Given the description of an element on the screen output the (x, y) to click on. 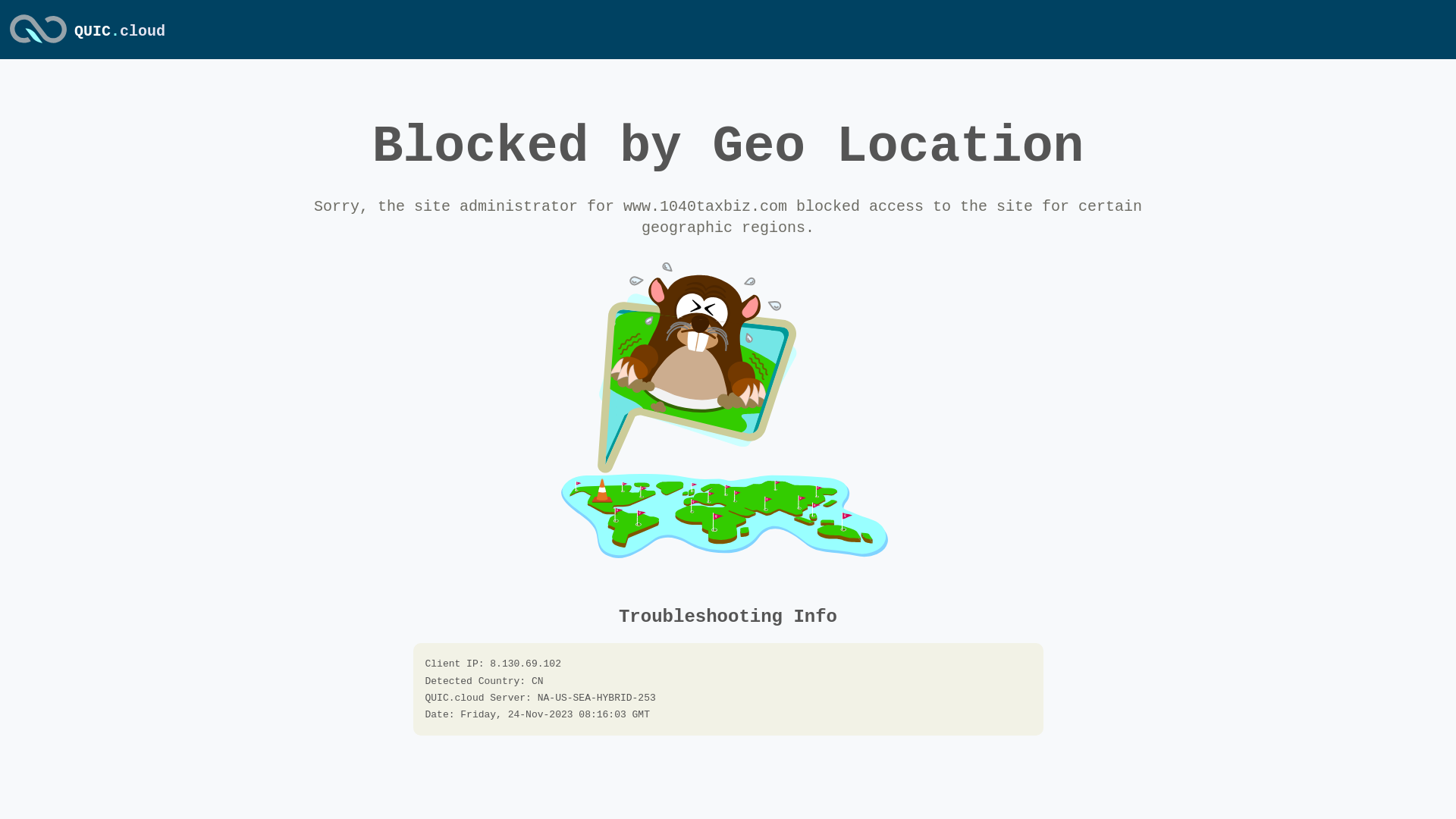
QUIC.cloud Element type: hover (38, 44)
QUIC.cloud Element type: text (119, 31)
